Given the description of an element on the screen output the (x, y) to click on. 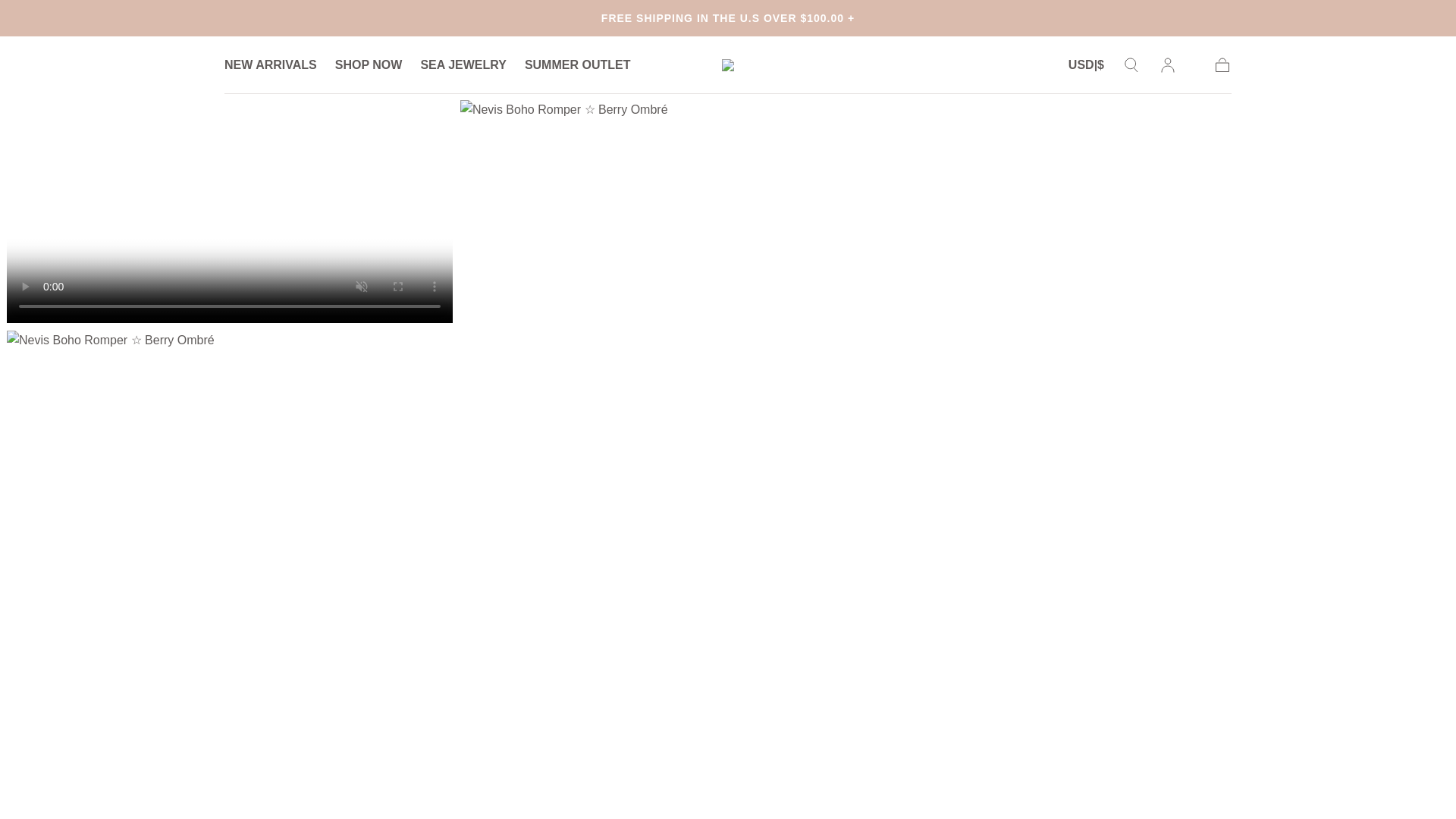
Sign in (1167, 65)
SKIP TO CONTENT (67, 18)
Cart (1221, 65)
